Given the description of an element on the screen output the (x, y) to click on. 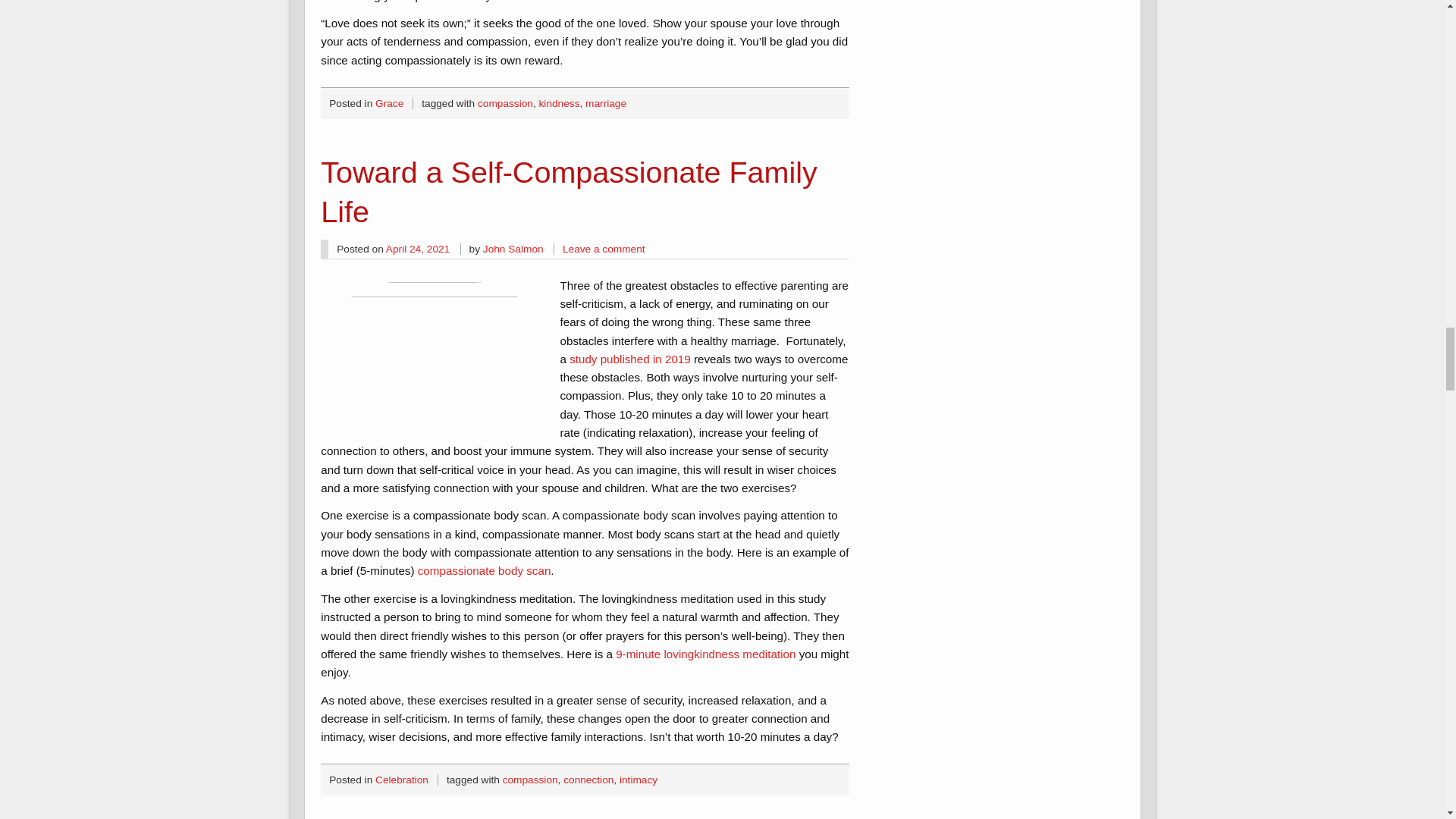
8:00 pm (417, 248)
View all posts by John Salmon (513, 248)
